Given the description of an element on the screen output the (x, y) to click on. 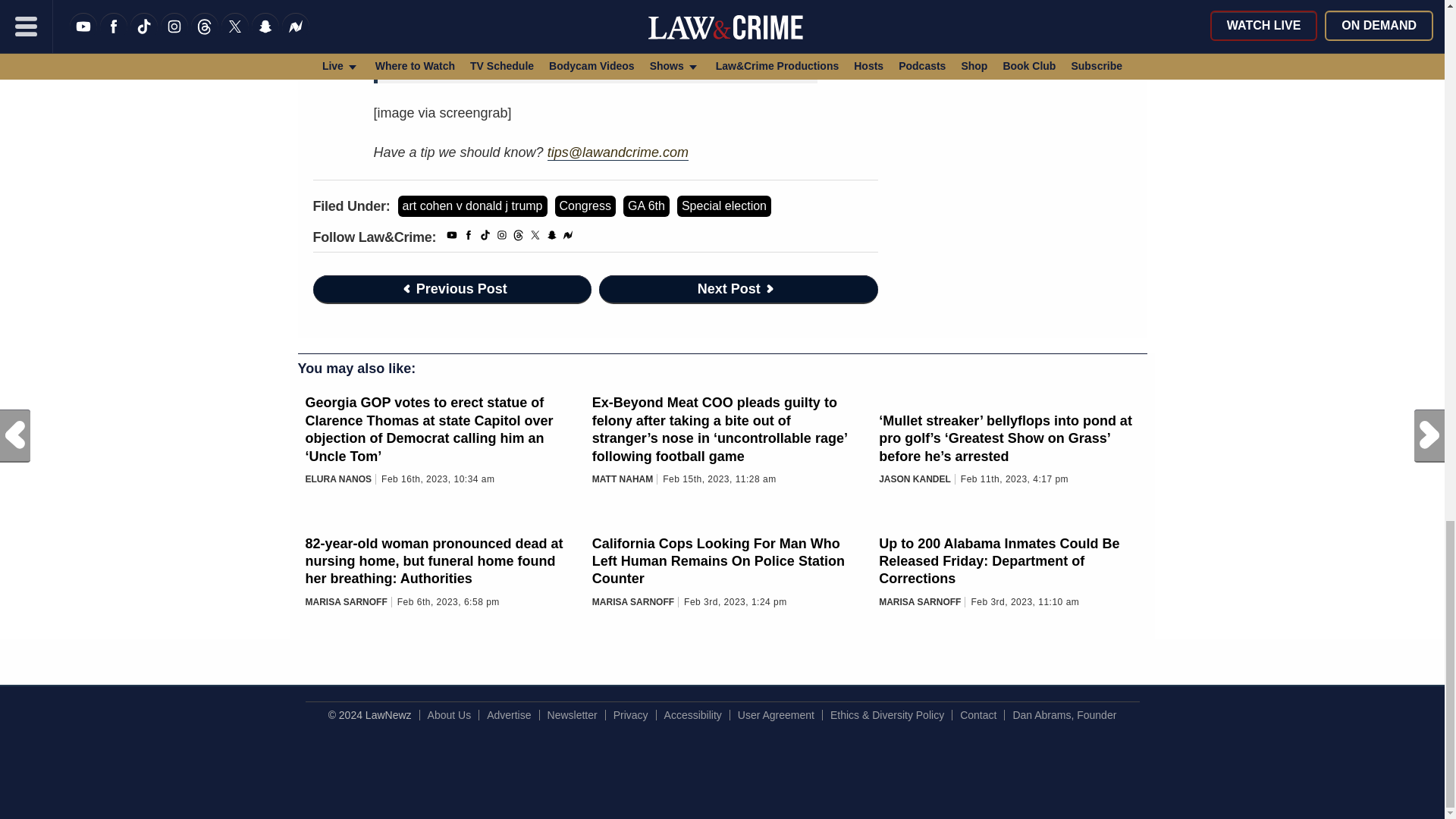
YouTube (451, 237)
